Given the description of an element on the screen output the (x, y) to click on. 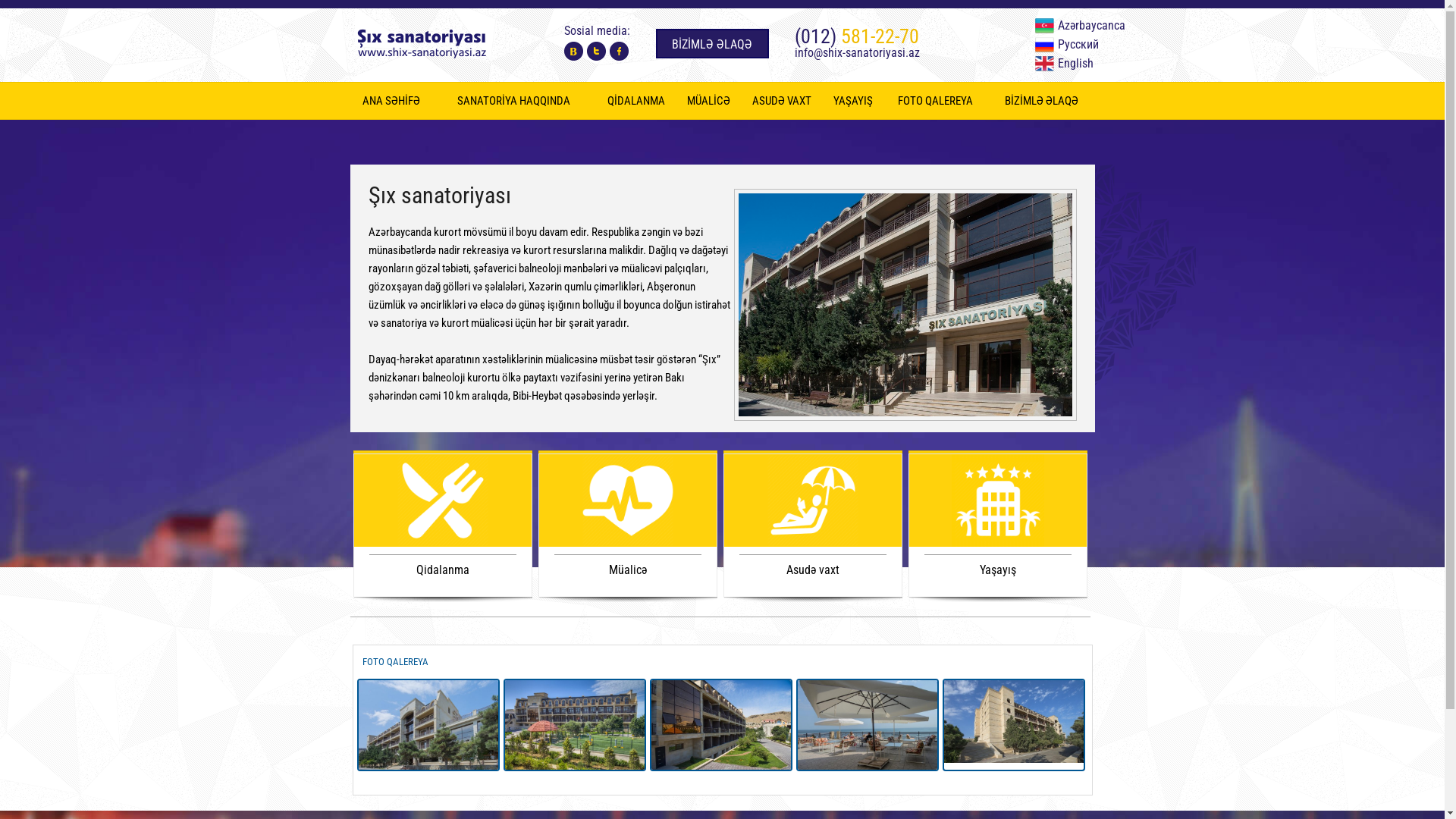
SANATORIYA HAQQINDA Element type: text (514, 100)
info@shix-sanatoriyasi.az Element type: text (856, 52)
FOTO QALEREYA Element type: text (395, 661)
QIDALANMA Element type: text (636, 100)
FOTO QALEREYA Element type: text (934, 100)
Qidalanma Element type: text (441, 569)
